Given the description of an element on the screen output the (x, y) to click on. 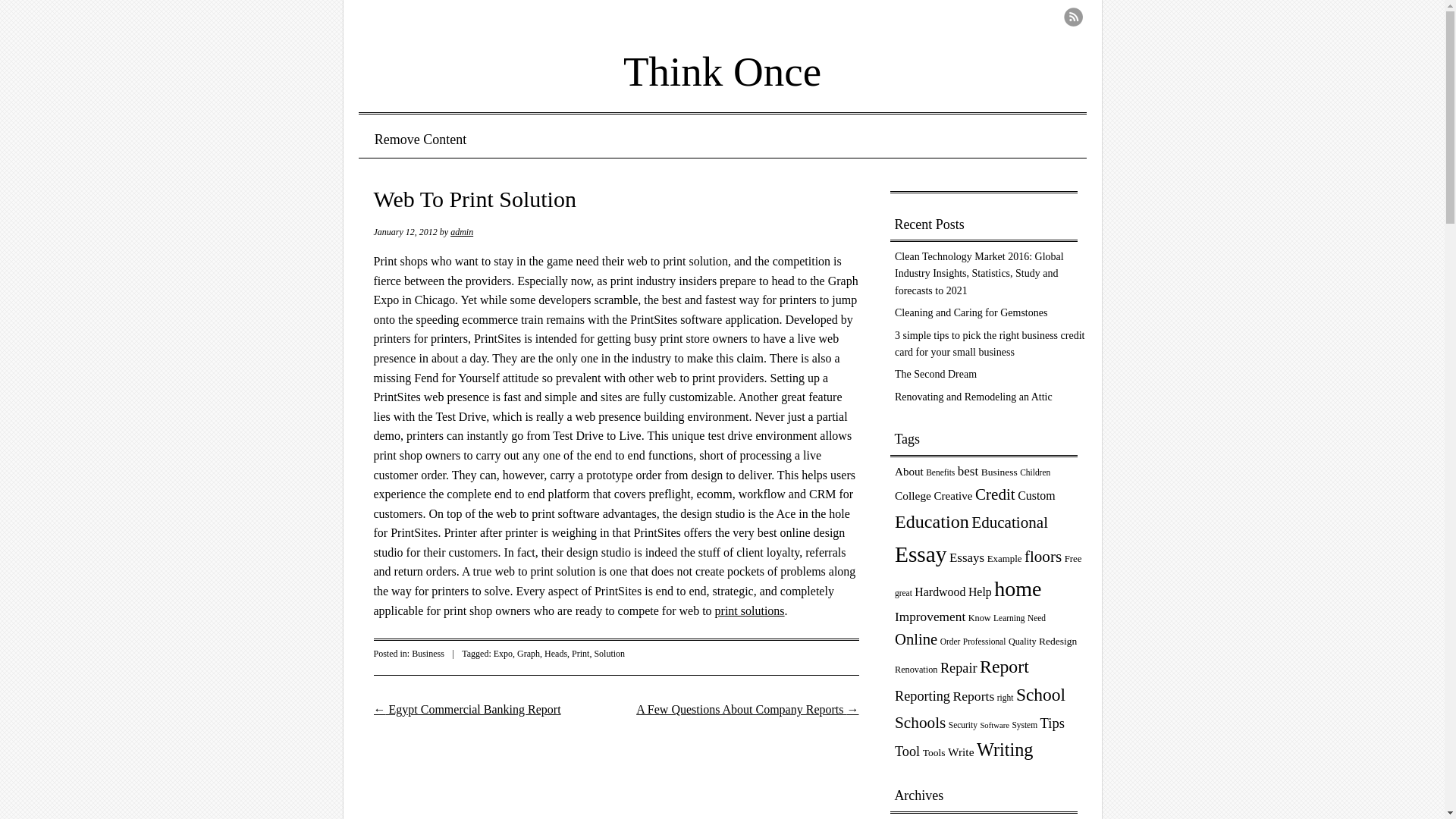
floors (1043, 556)
Hardwood (939, 591)
Example (1004, 558)
Heads (555, 653)
About (909, 471)
Skip to content (415, 140)
Graph (528, 653)
Business (428, 653)
Children (1034, 471)
Expo (502, 653)
best (968, 471)
College (913, 495)
Think Once (722, 61)
Cleaning and Caring for Gemstones (970, 312)
